Given the description of an element on the screen output the (x, y) to click on. 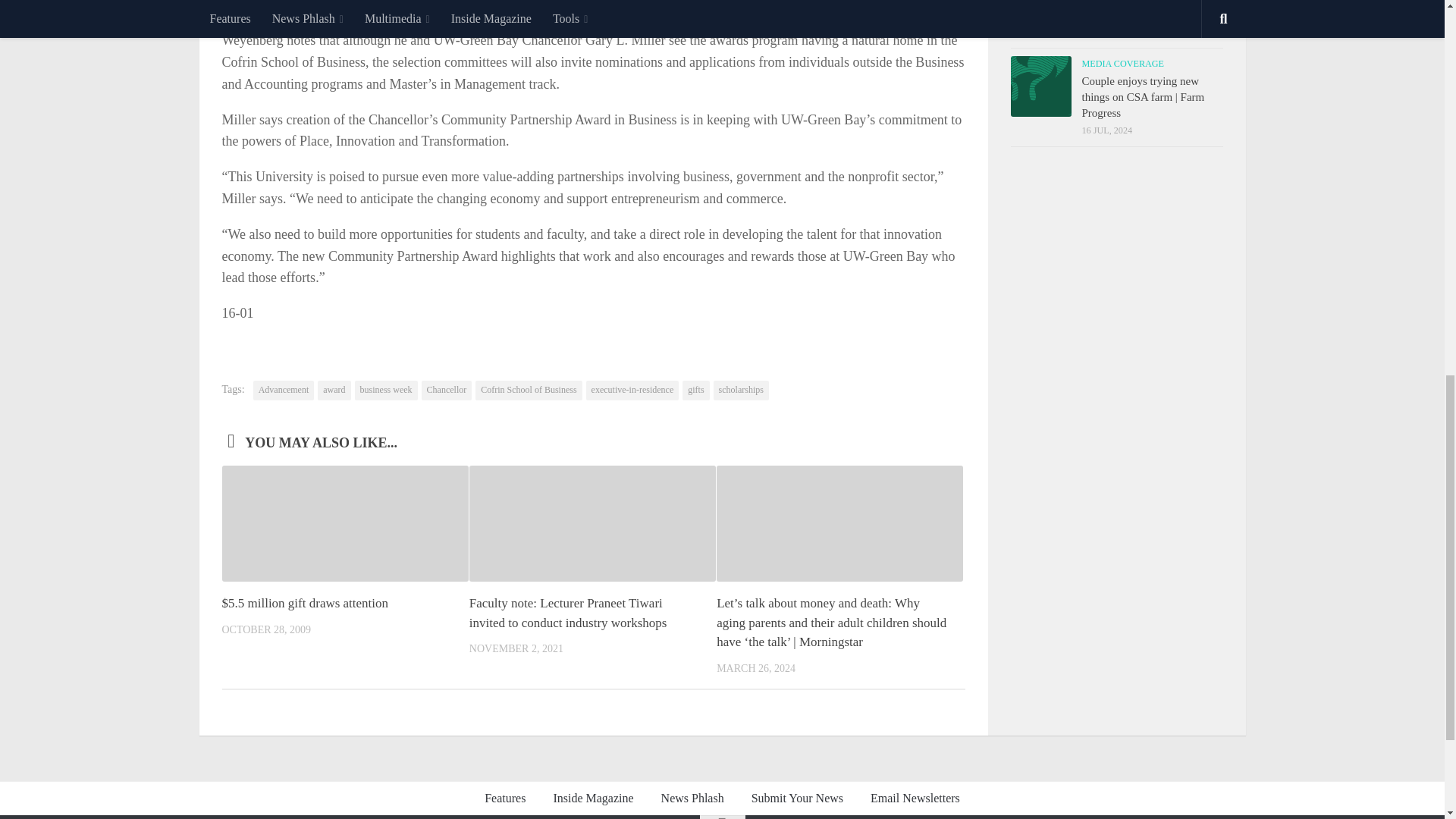
award (333, 390)
gifts (695, 390)
Chancellor (446, 390)
scholarships (740, 390)
Cofrin School of Business (528, 390)
executive-in-residence (632, 390)
business week (386, 390)
Advancement (283, 390)
